Given the description of an element on the screen output the (x, y) to click on. 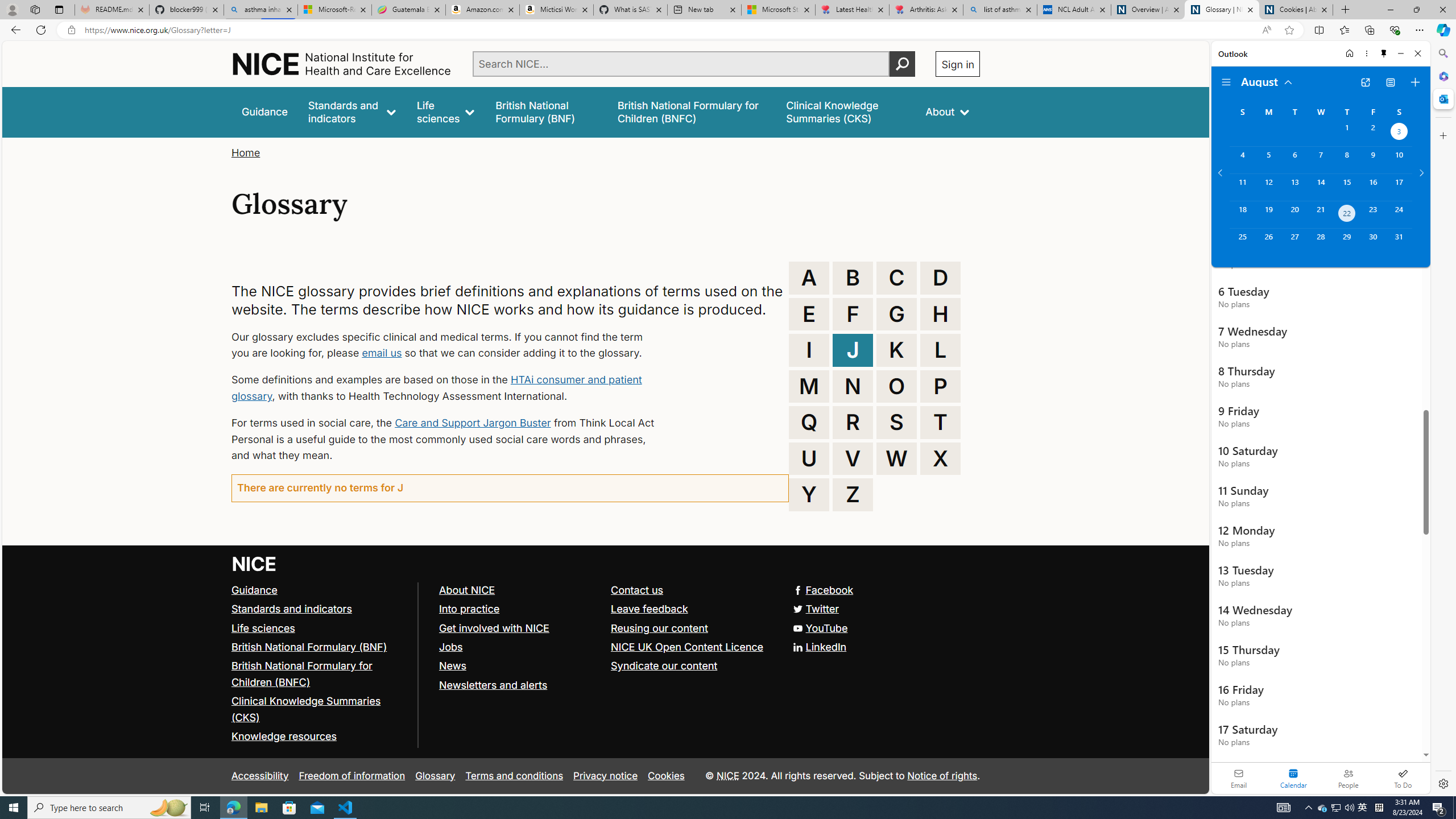
Cookies | About | NICE (1295, 9)
Reusing our content (692, 628)
Syndicate our content (664, 666)
Privacy notice (605, 775)
Get involved with NICE (518, 628)
Selected calendar module. Date today is 22 (1293, 777)
Twitter (816, 608)
Tuesday, August 13, 2024.  (1294, 186)
N (852, 385)
